Given the description of an element on the screen output the (x, y) to click on. 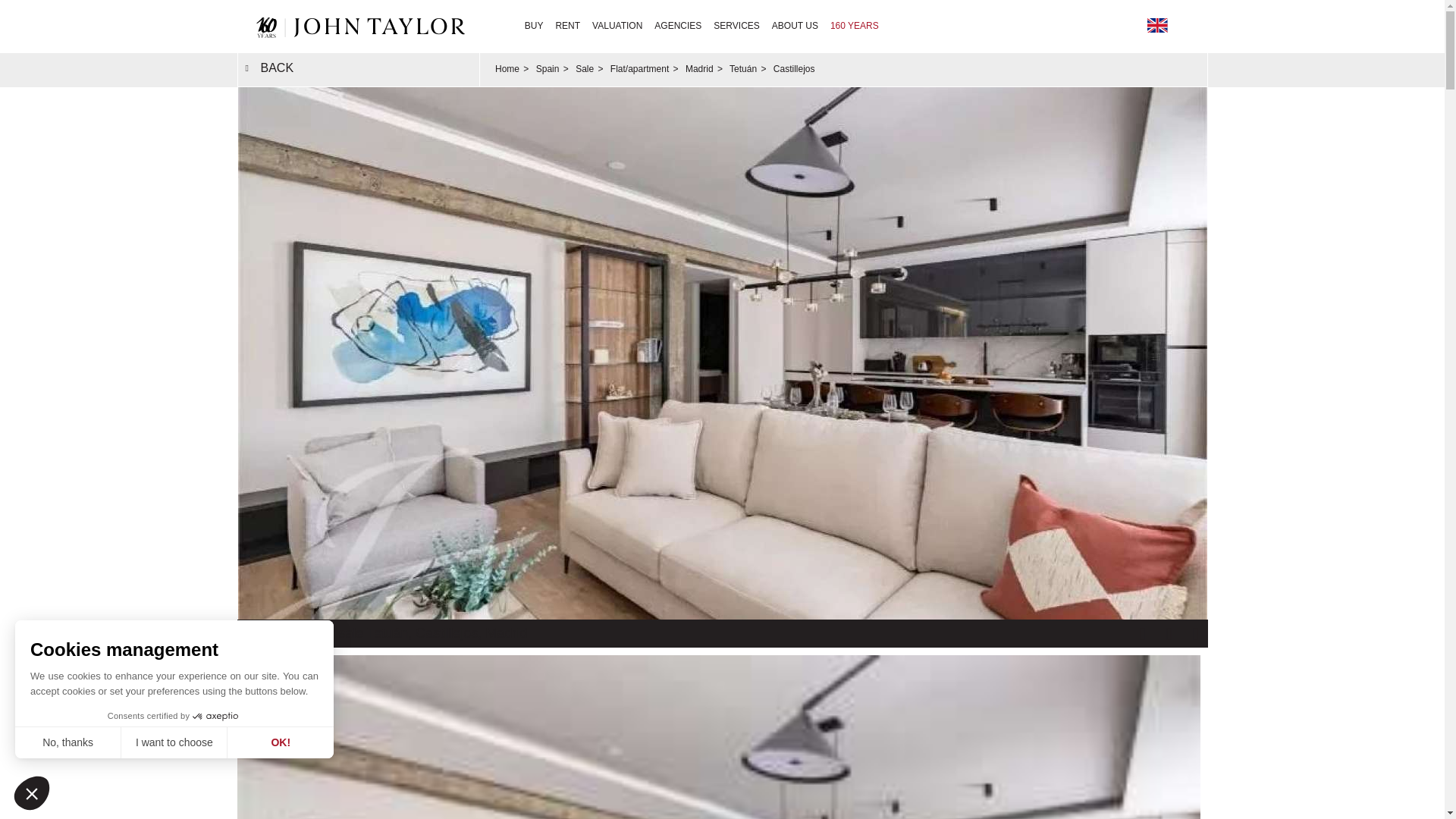
0 (106, 767)
John Taylor (357, 25)
